Given the description of an element on the screen output the (x, y) to click on. 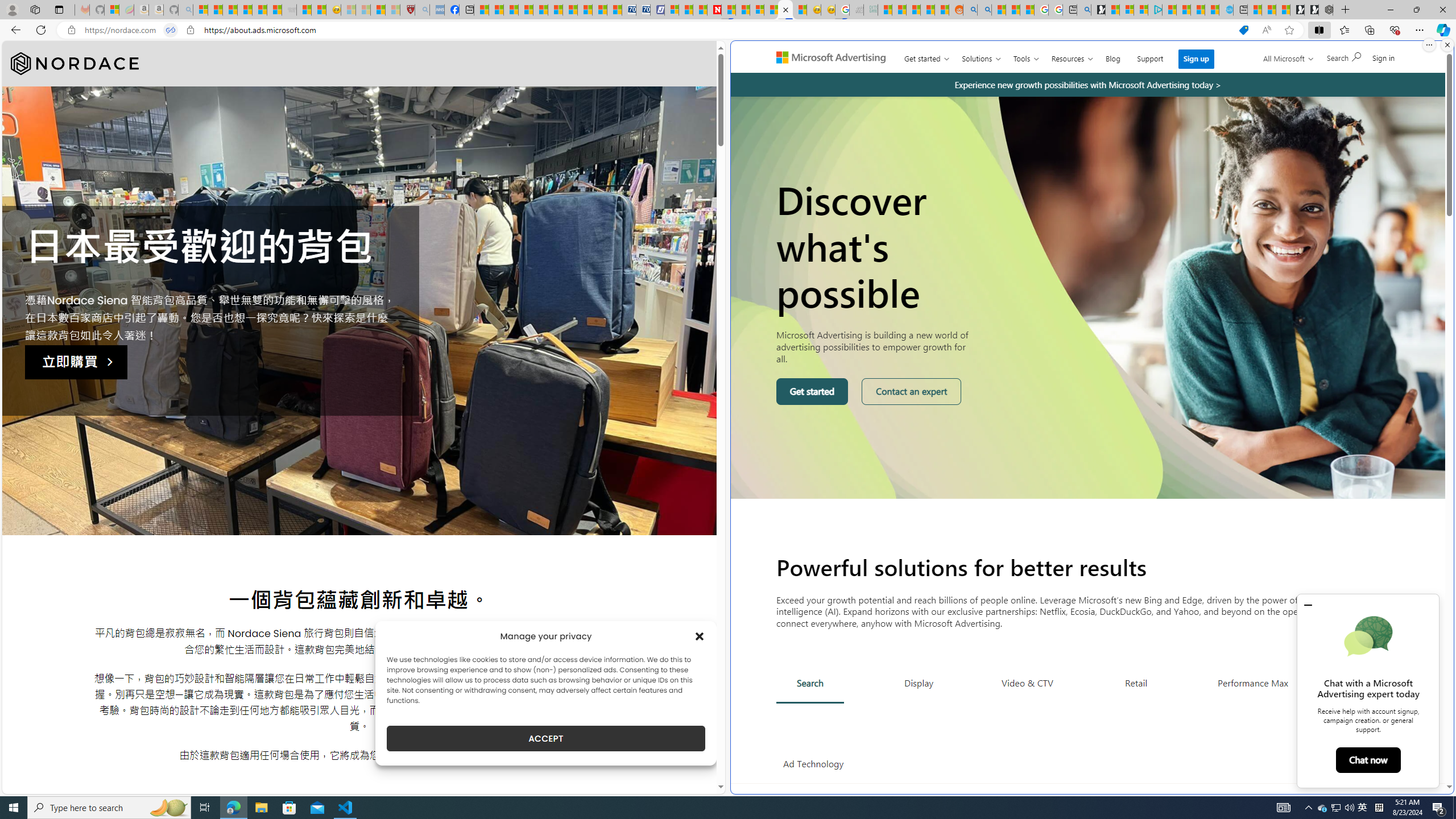
Get the Copilot app  (1363, 62)
Trusted Community Engagement and Contributions | Guidelines (728, 9)
Close split screen. (1447, 45)
Restore (1416, 9)
Play Free Online Games | Games from Microsoft Start (1311, 9)
12 Popular Science Lies that Must be Corrected - Sleeping (392, 9)
Navy Quest (855, 9)
Support (1149, 56)
